Given the description of an element on the screen output the (x, y) to click on. 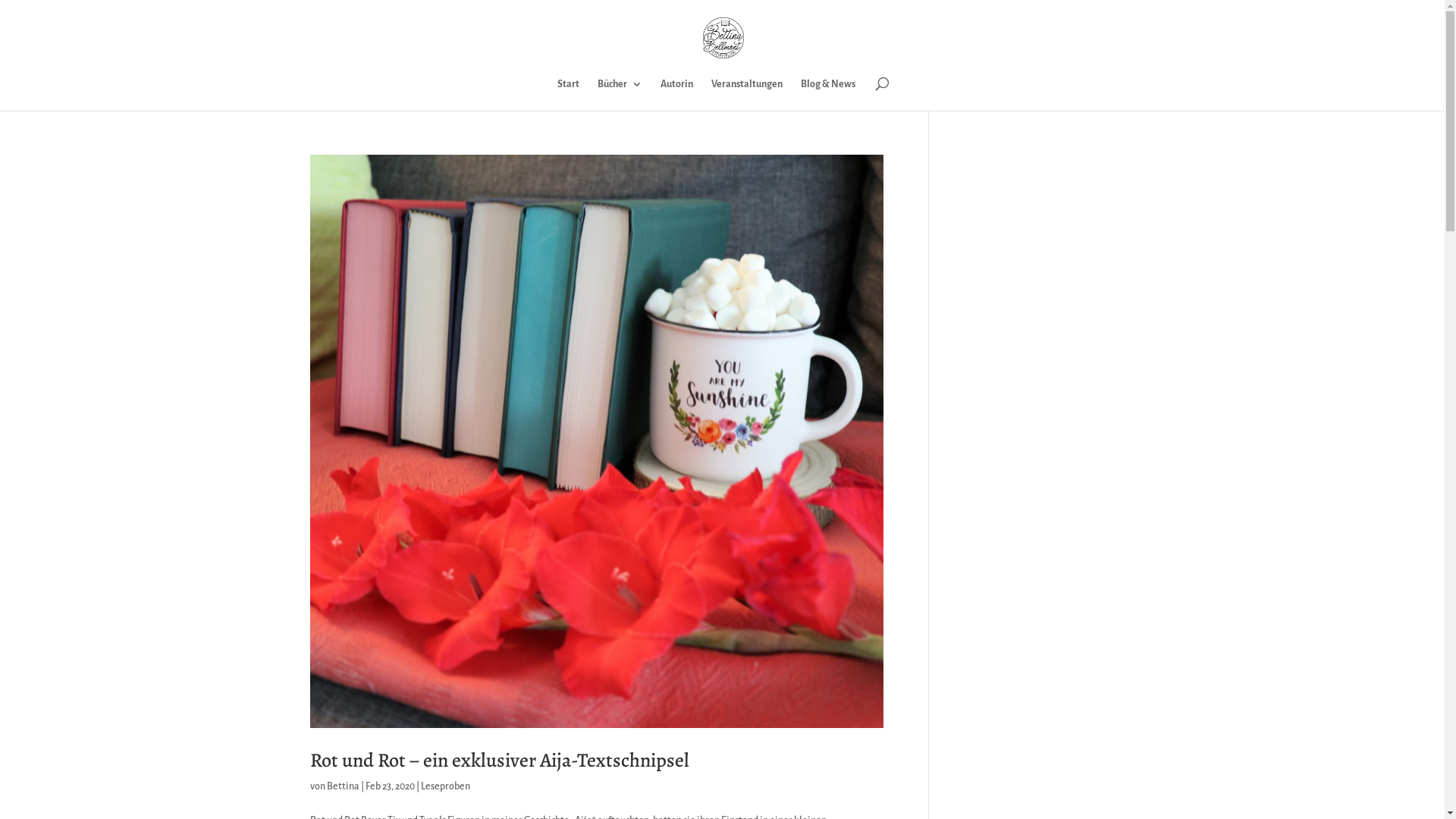
Veranstaltungen Element type: text (746, 94)
Bettina Element type: text (342, 786)
Start Element type: text (568, 94)
Blog & News Element type: text (827, 94)
Autorin Element type: text (676, 94)
Leseproben Element type: text (444, 786)
